Given the description of an element on the screen output the (x, y) to click on. 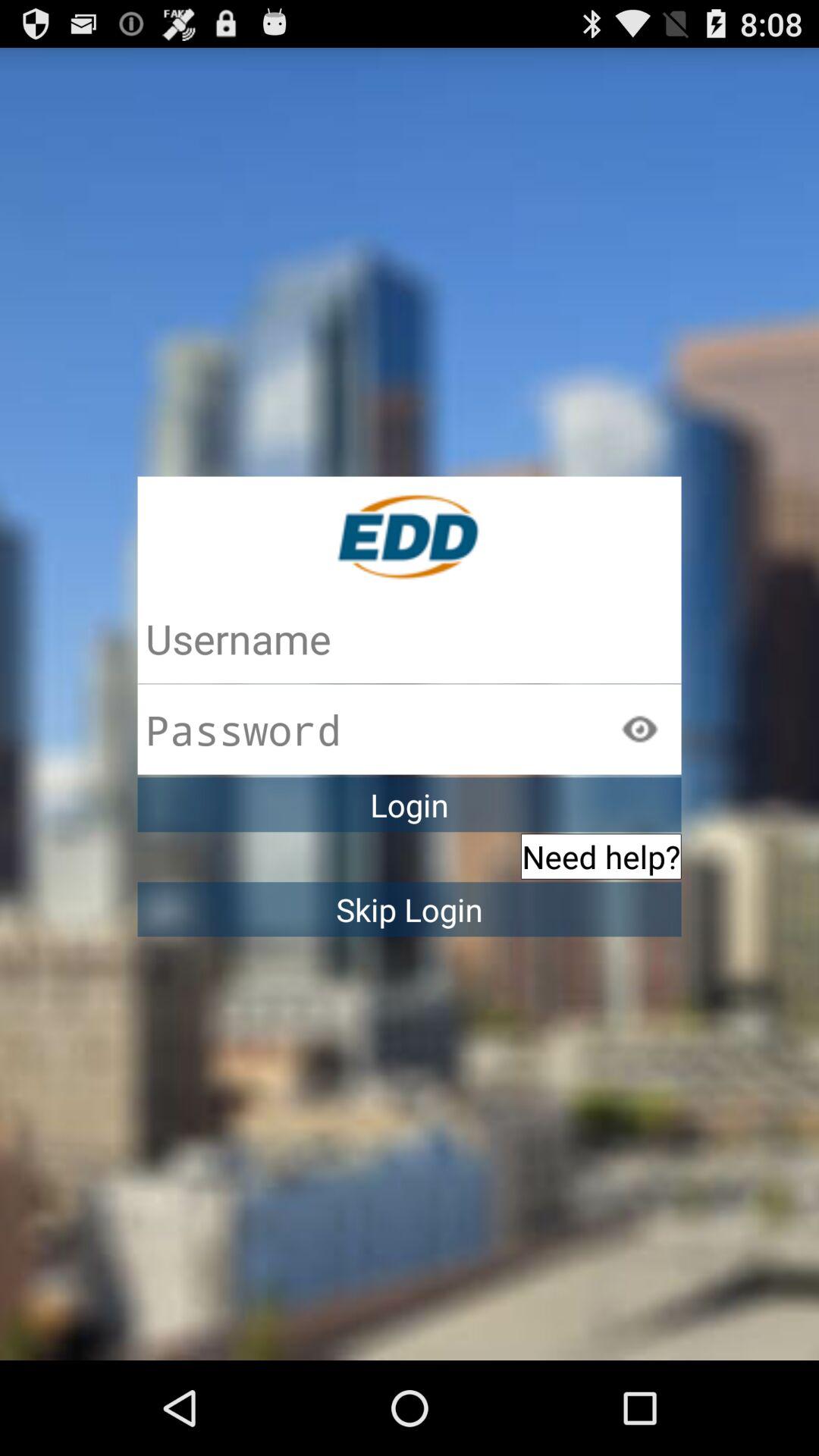
flip until need help? (600, 856)
